Given the description of an element on the screen output the (x, y) to click on. 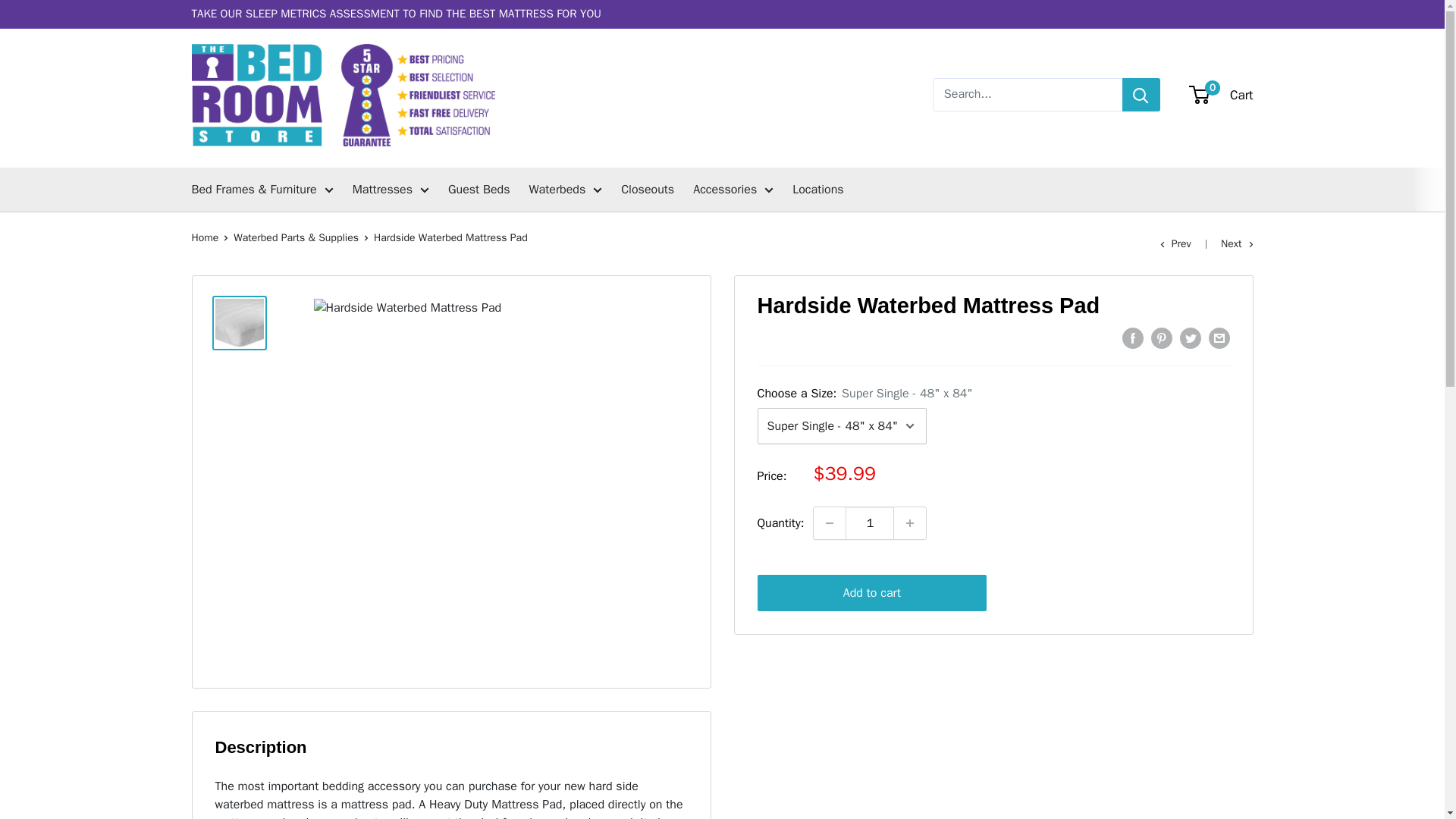
Decrease quantity by 1 (829, 522)
1 (869, 522)
Increase quantity by 1 (909, 522)
